Given the description of an element on the screen output the (x, y) to click on. 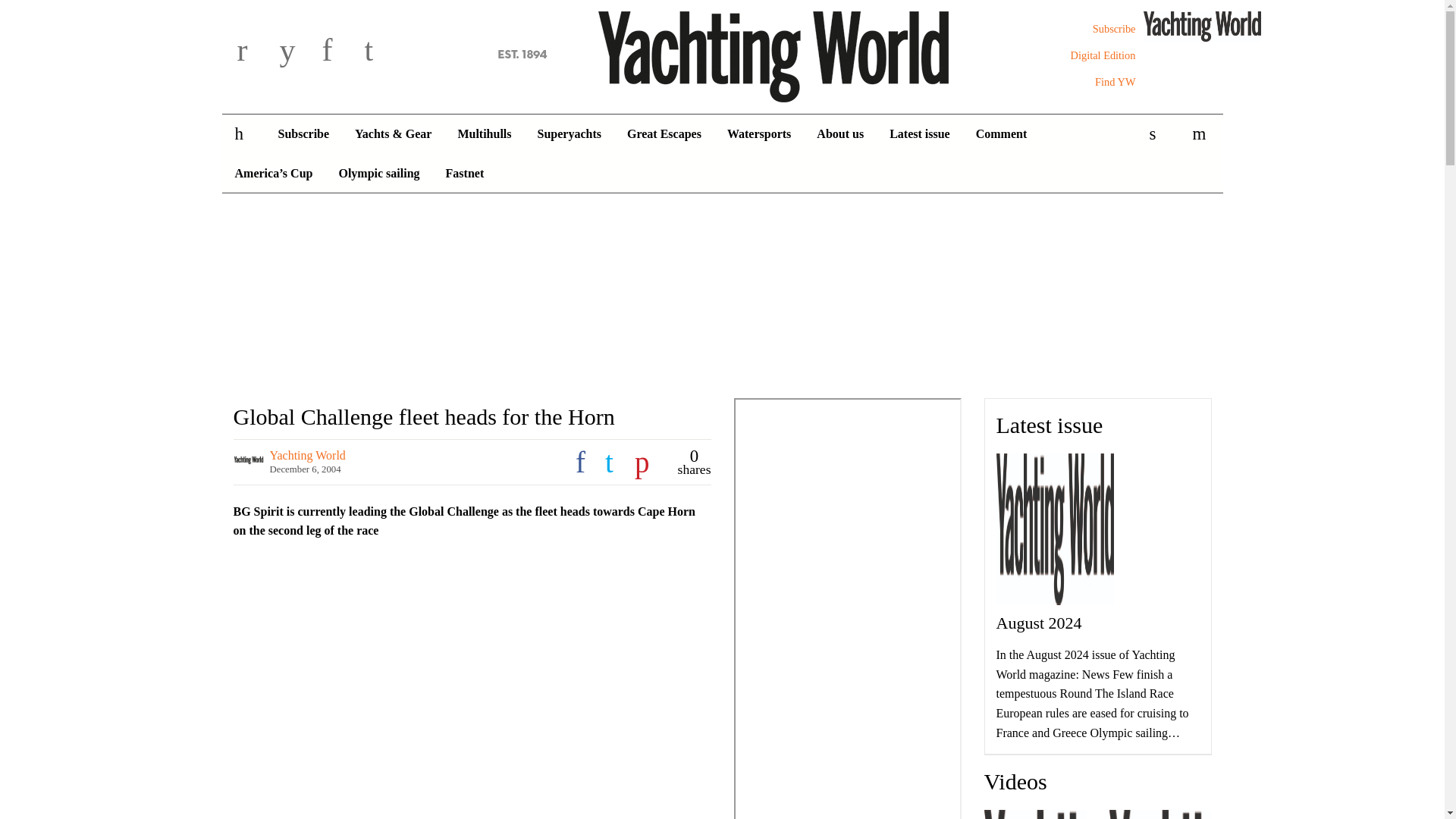
Superyachts (569, 133)
Digital Edition (1102, 55)
Latest Issue of Yachting World (1176, 26)
t (382, 52)
Great Escapes (664, 133)
Subscribe (1114, 28)
r (254, 52)
Subscribe (1114, 28)
Yachting World (721, 53)
Find YW (1114, 81)
